Given the description of an element on the screen output the (x, y) to click on. 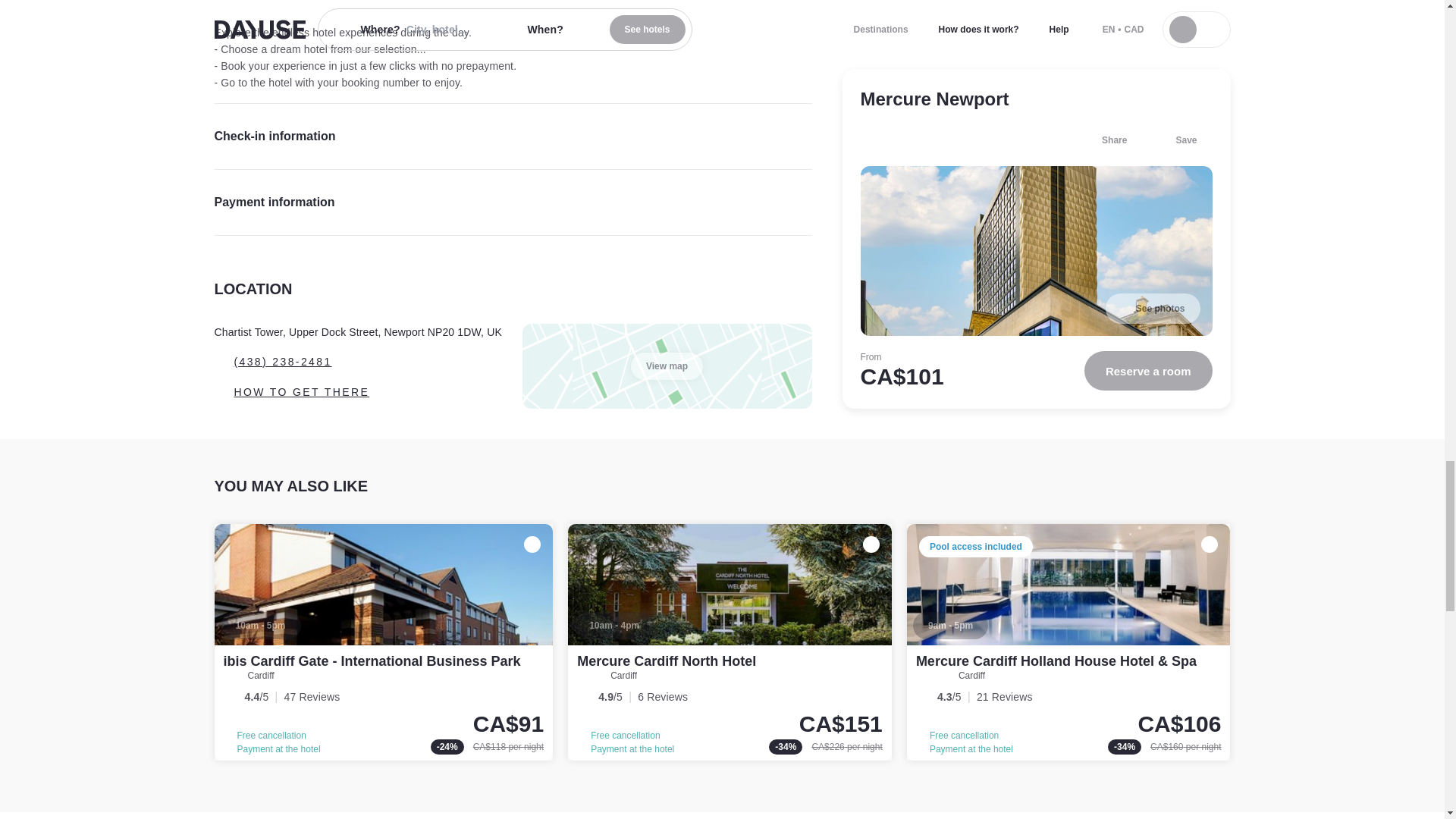
Mercure Cardiff North Hotel (665, 661)
ibis Cardiff Gate - International Business Park (383, 642)
Mercure Cardiff North Hotel (729, 642)
ibis Cardiff Gate - International Business Park (370, 661)
